Given the description of an element on the screen output the (x, y) to click on. 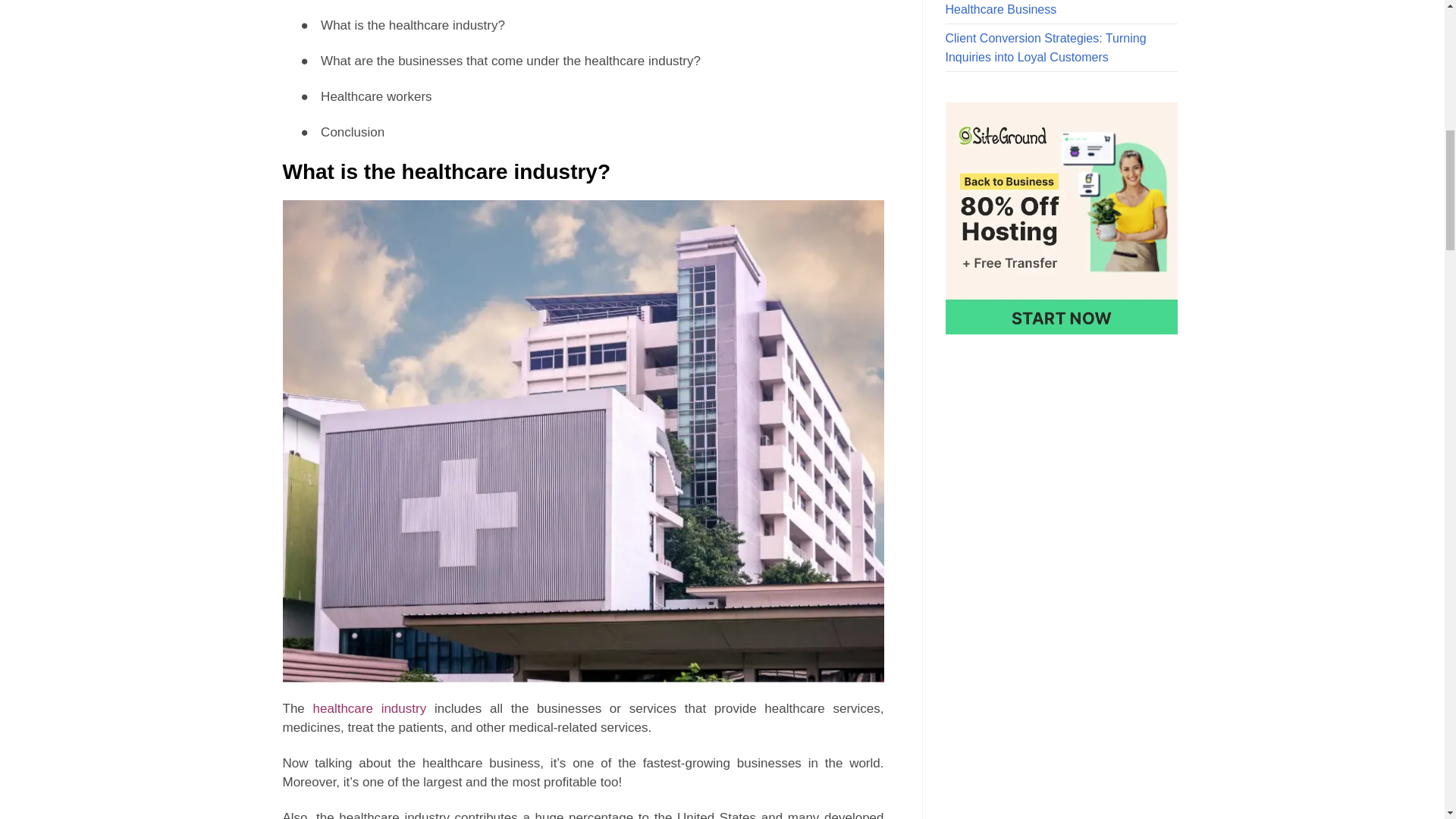
healthcare industry (369, 708)
